Given the description of an element on the screen output the (x, y) to click on. 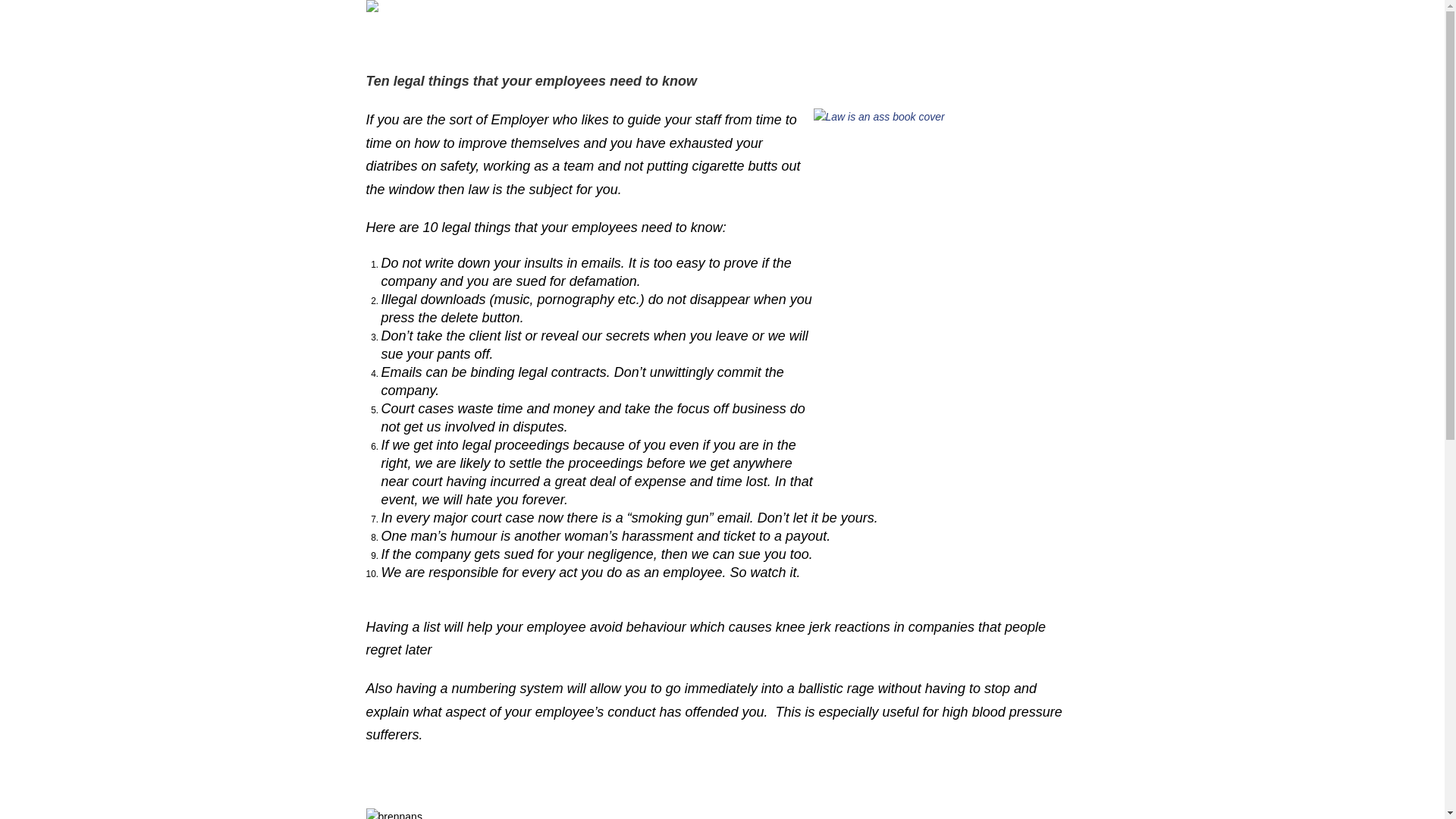
About Element type: text (773, 32)
Podcast Element type: text (495, 32)
Lawyers Element type: text (723, 32)
Law Element type: text (638, 32)
Contact Element type: text (928, 32)
Books Element type: text (598, 32)
Home Element type: text (447, 32)
Speaker Element type: text (549, 32)
Brennans Solicitors Element type: text (848, 32)
Ezine Element type: text (676, 32)
